Given the description of an element on the screen output the (x, y) to click on. 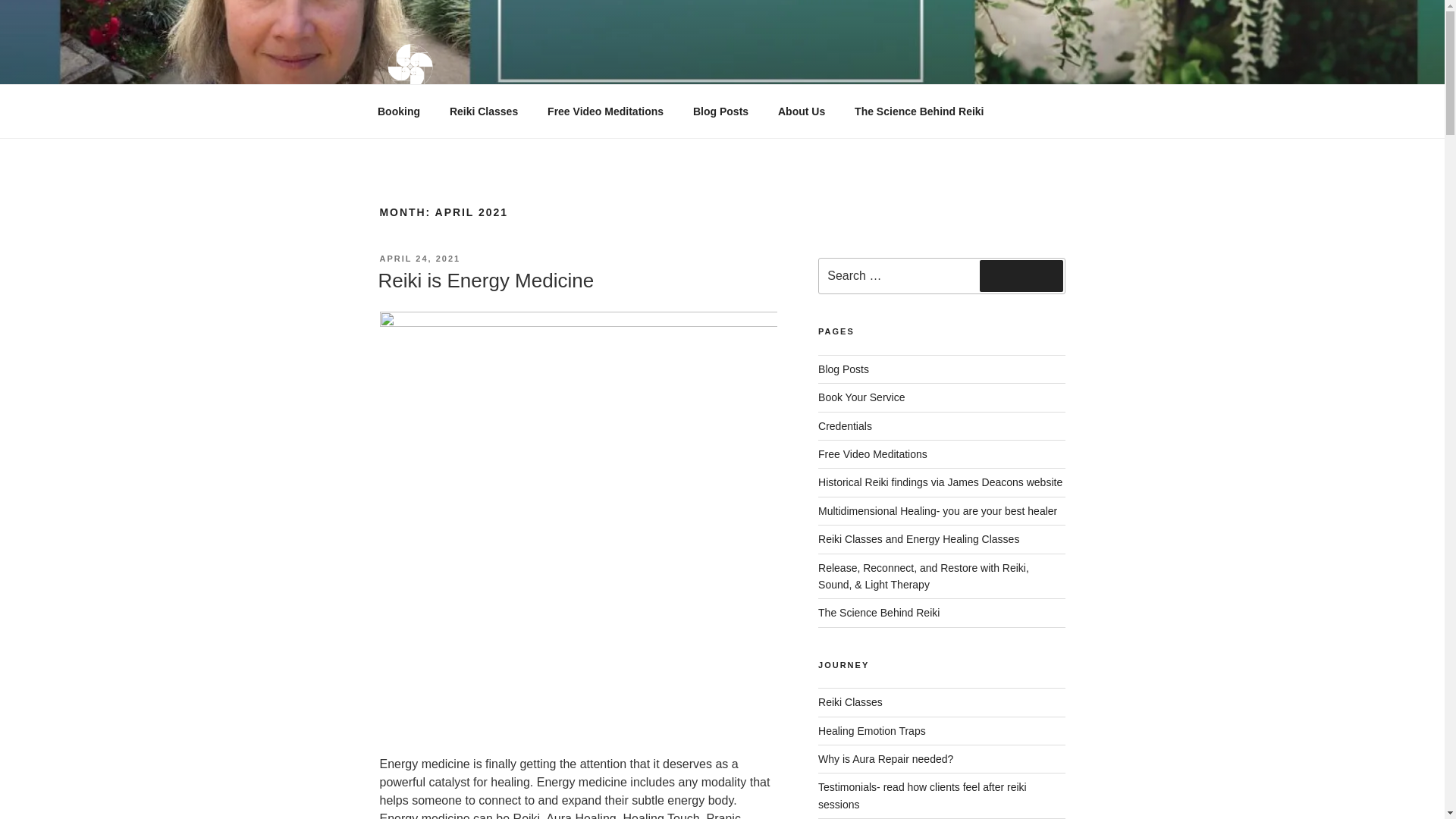
Reiki is Energy Medicine (485, 280)
Multidimensional Healing- you are your best healer (937, 510)
Booking (398, 110)
The Science Behind Reiki (878, 612)
Healing Emotion Traps (872, 730)
Reiki Classes (850, 702)
Book Your Service (861, 397)
SERENITY ATTUNEMENT (563, 119)
Free Video Meditations (605, 110)
Reiki Classes (483, 110)
